Given the description of an element on the screen output the (x, y) to click on. 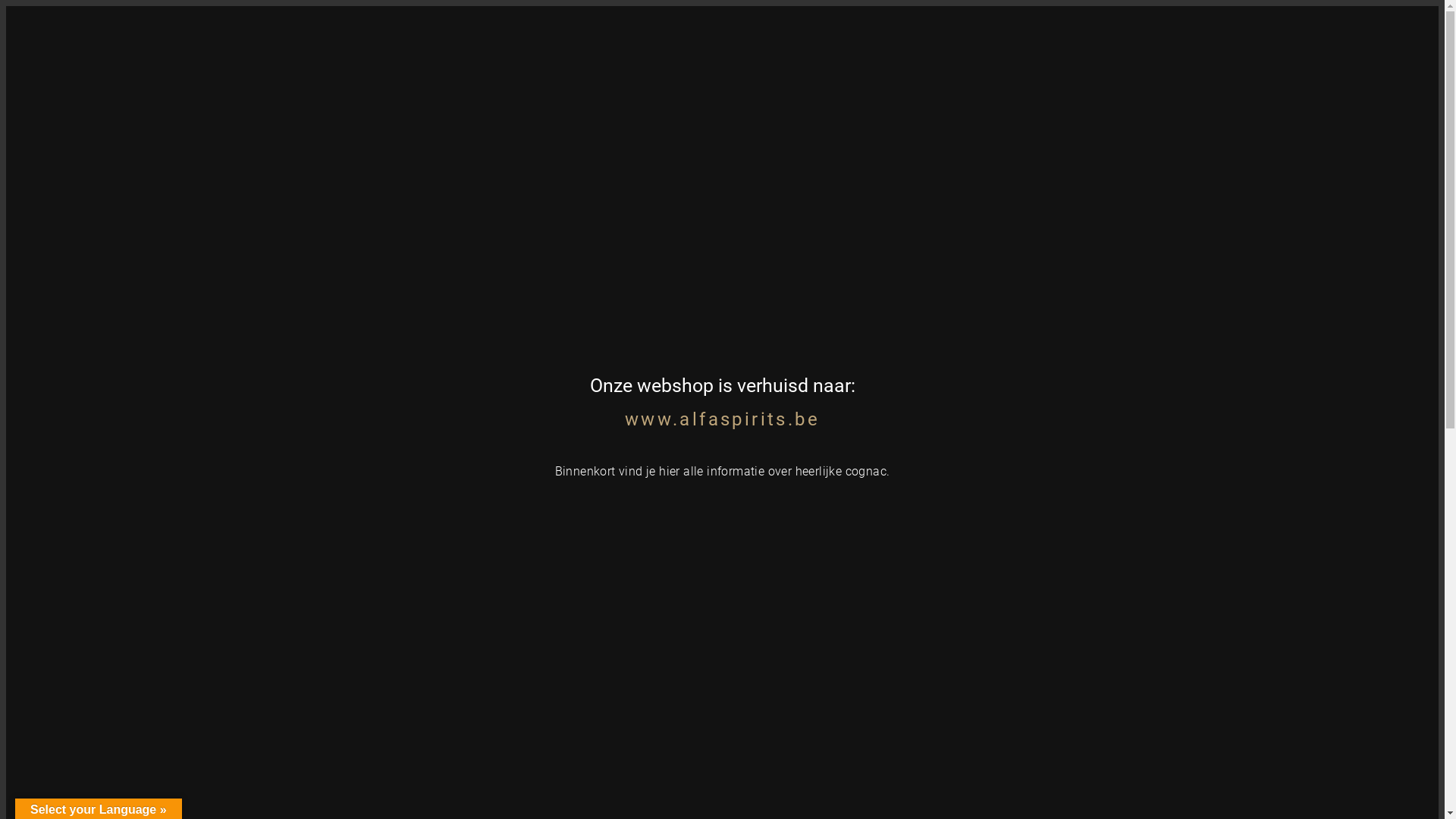
www.alfaspirits.be Element type: text (721, 418)
